Given the description of an element on the screen output the (x, y) to click on. 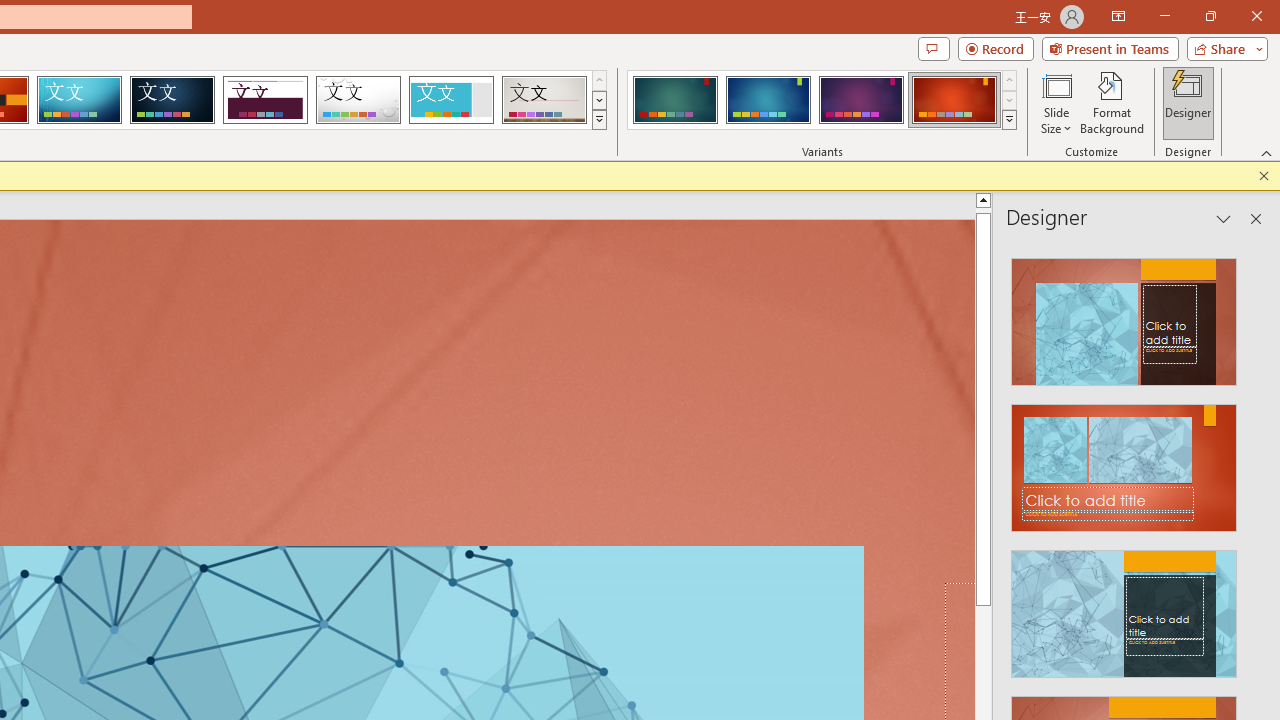
Format Background (1111, 102)
Gallery (544, 100)
Recommended Design: Design Idea (1124, 315)
Ion Variant 1 (674, 100)
Circuit (79, 100)
Ion Variant 2 (768, 100)
Dividend (265, 100)
